Given the description of an element on the screen output the (x, y) to click on. 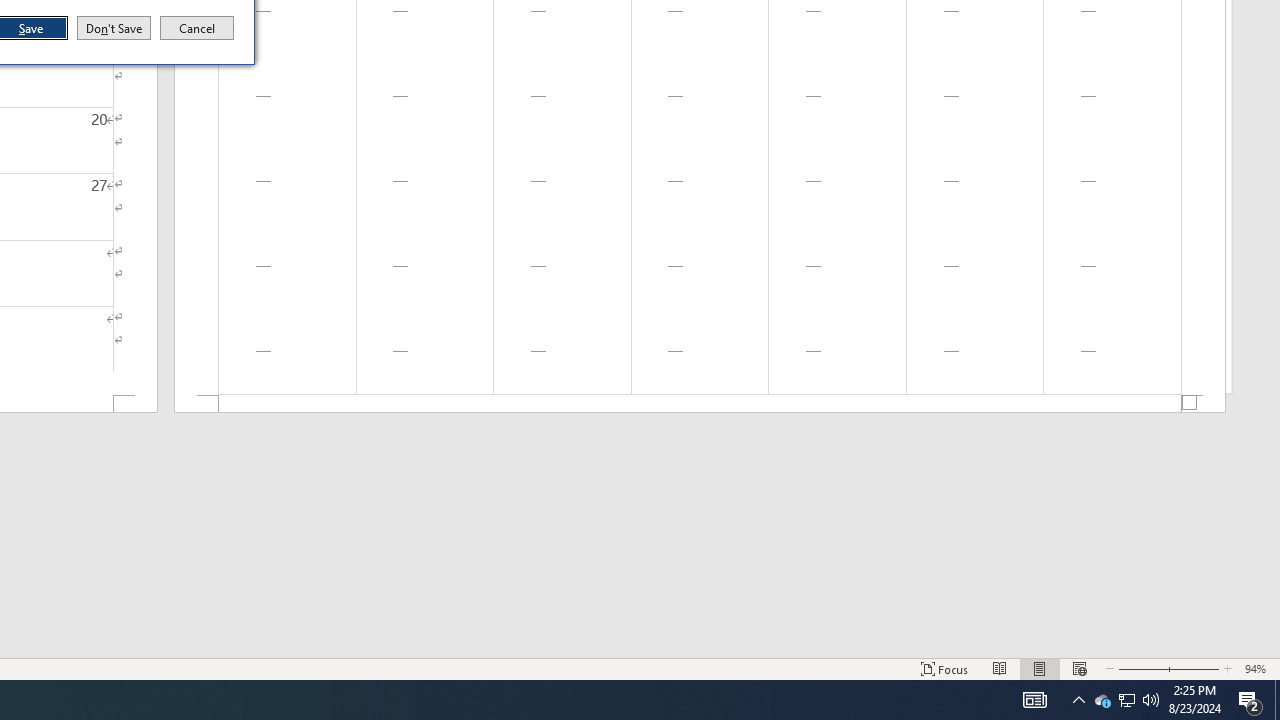
Don't Save (113, 27)
